Given the description of an element on the screen output the (x, y) to click on. 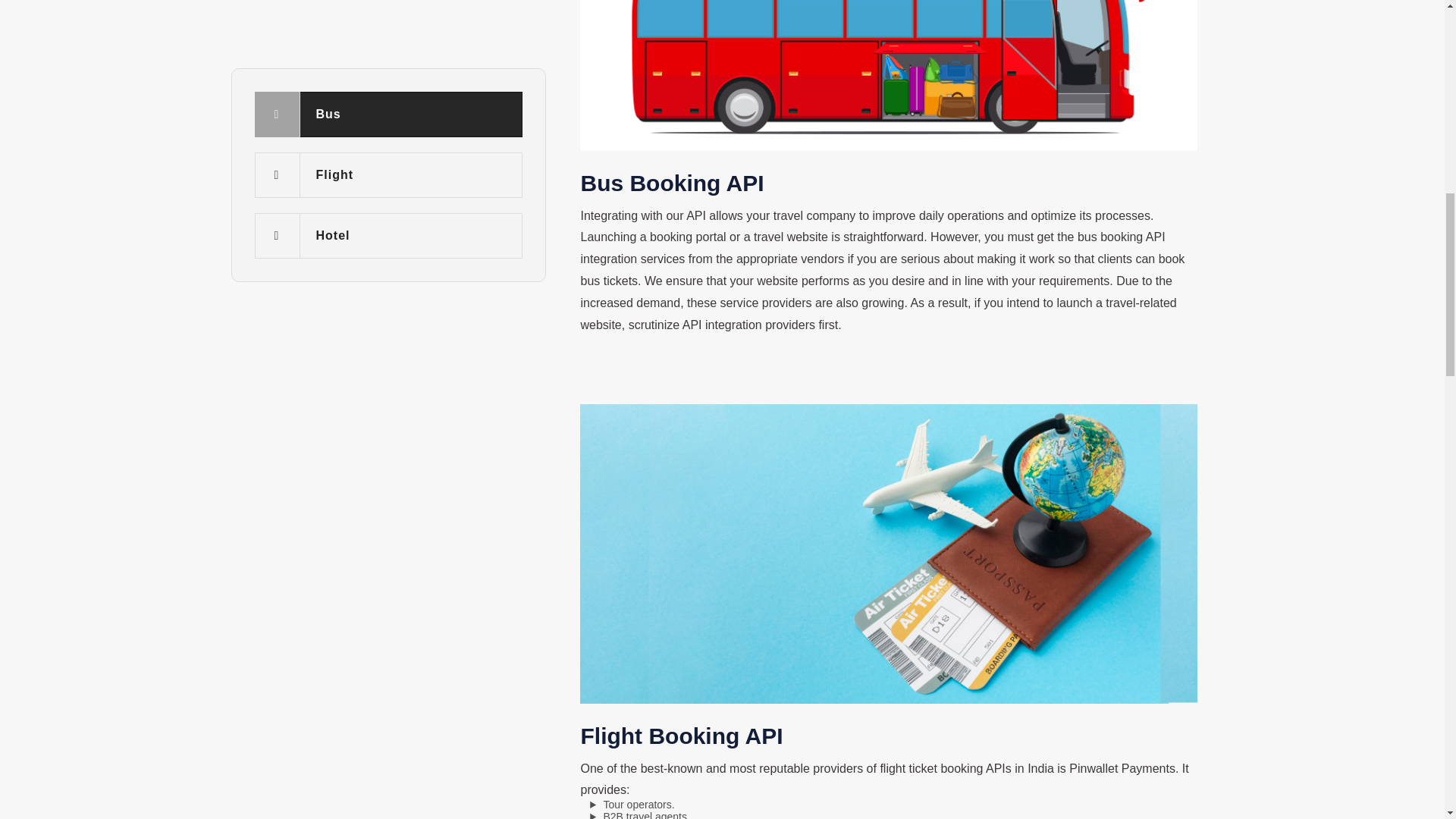
Hotel (388, 13)
